Given the description of an element on the screen output the (x, y) to click on. 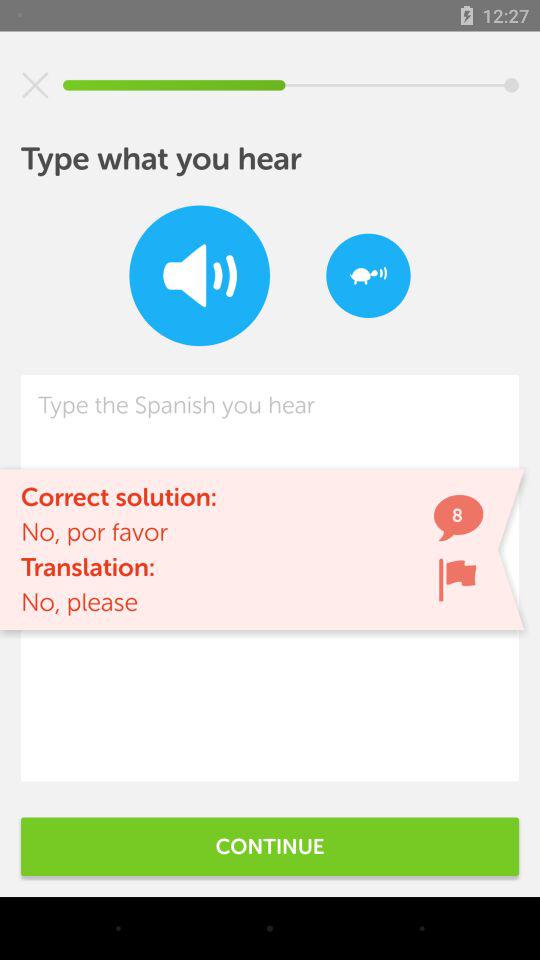
flag the entry report the entry (457, 579)
